Given the description of an element on the screen output the (x, y) to click on. 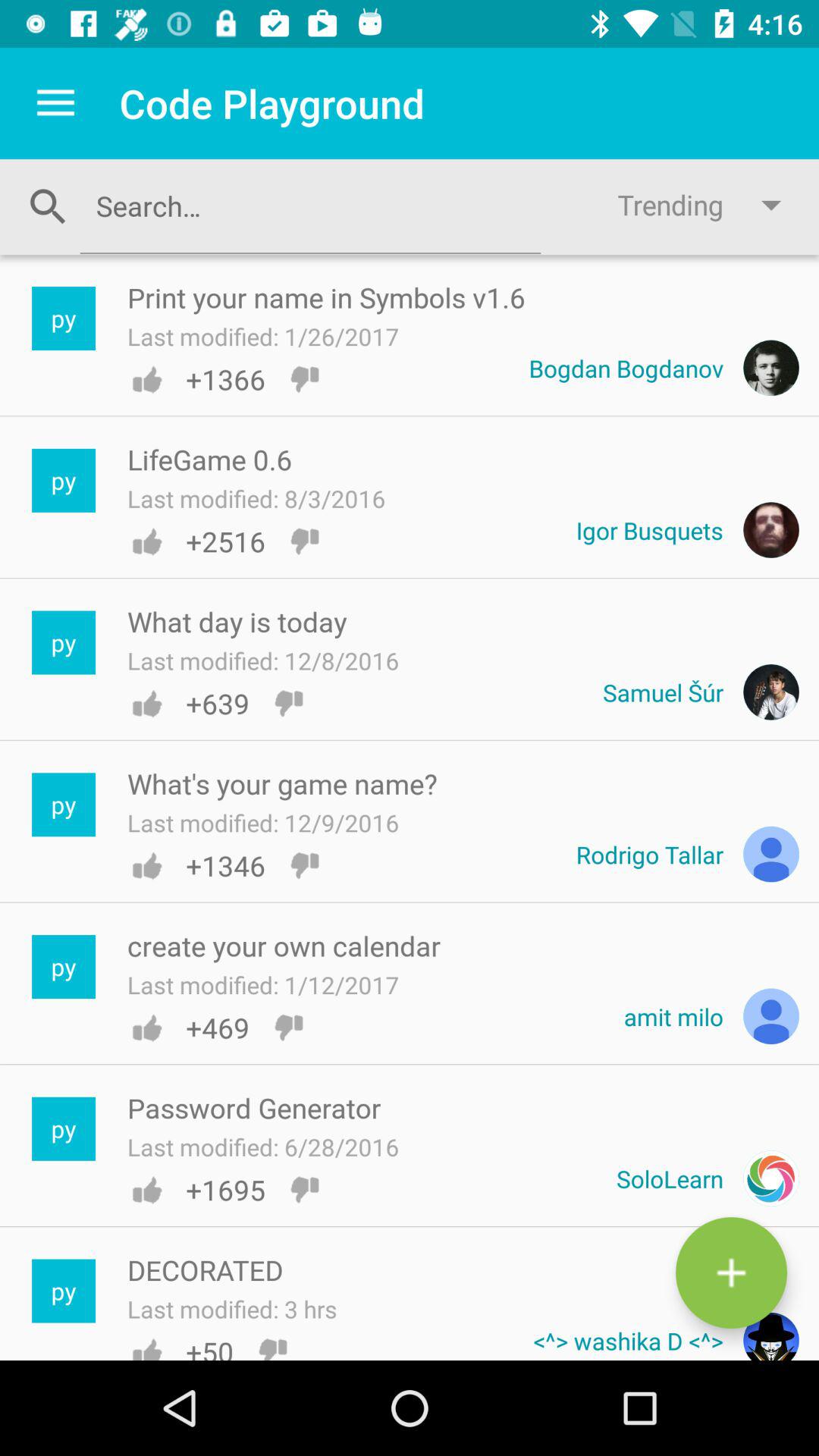
create a new post (731, 1272)
